Given the description of an element on the screen output the (x, y) to click on. 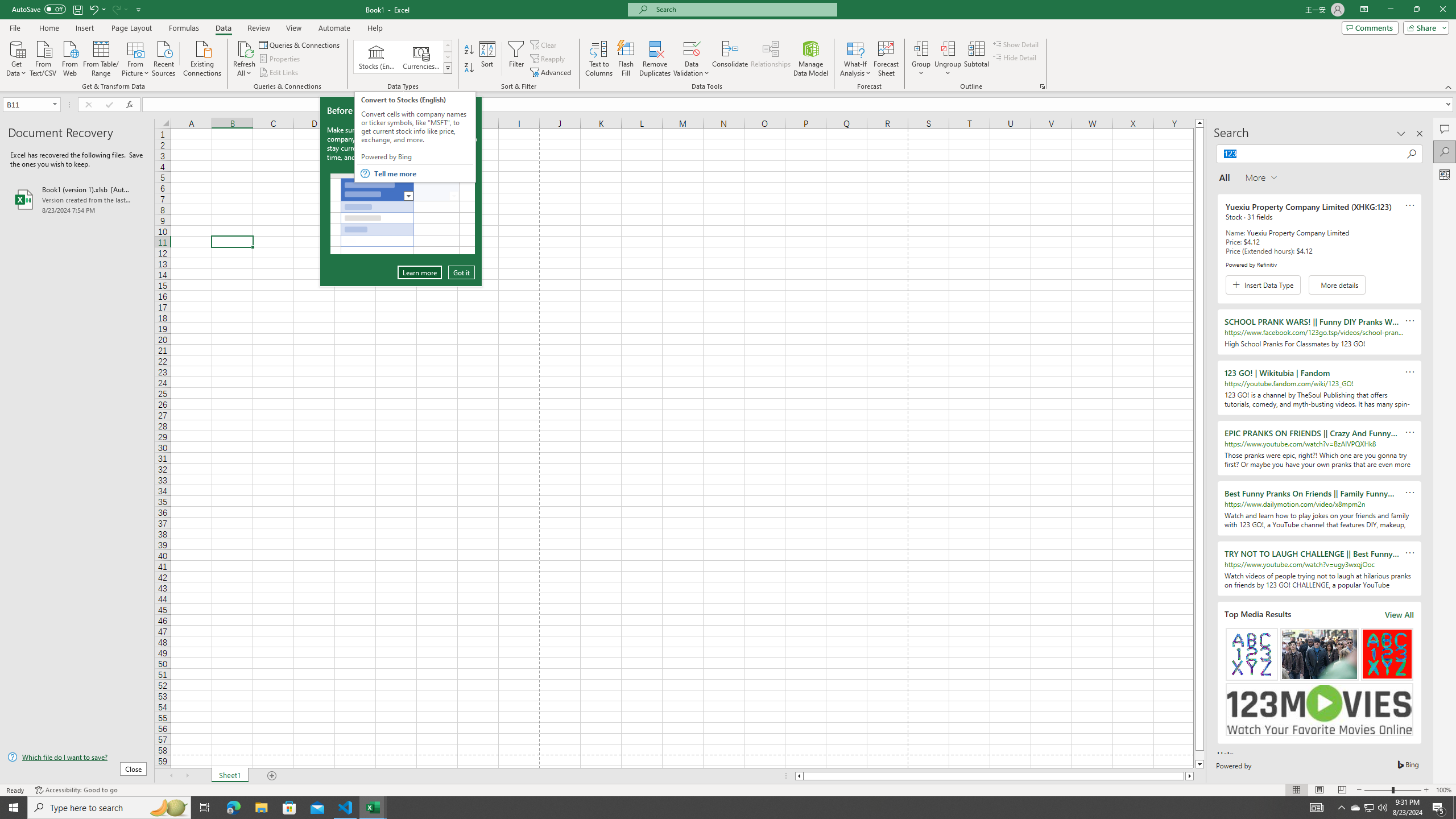
Action Center, 5 new notifications (1368, 807)
Consolidate... (1439, 807)
Type here to search (729, 58)
